Given the description of an element on the screen output the (x, y) to click on. 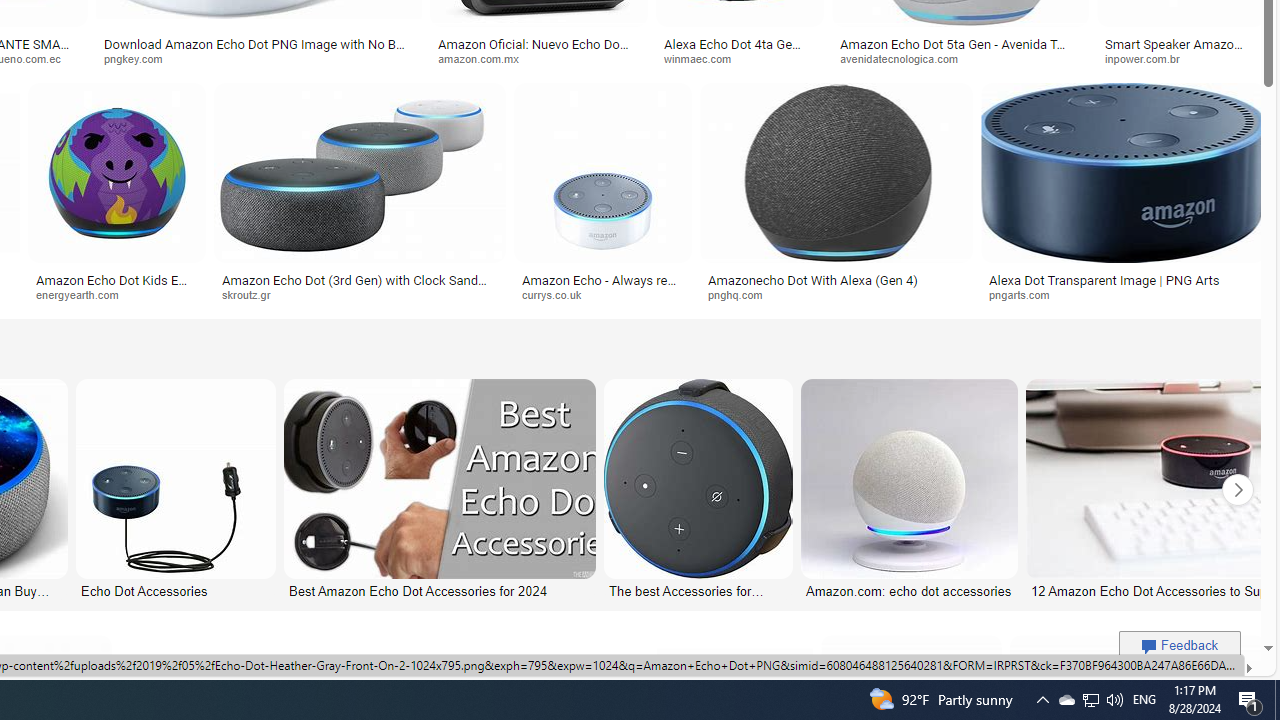
Amazonecho Dot With Alexa (Gen 4) (812, 279)
winmaec.com (705, 57)
pngkey.com (258, 58)
Amazon Echo Dot Kids Edition - 5th Generation (117, 286)
Image result for Amazon Echo Dot PNG (1122, 172)
pngarts.com (1026, 294)
amazon.com.mx (538, 58)
skroutz.gr (253, 294)
pnghq.com (836, 295)
Image result for Amazon Echo Dot PNG (1122, 172)
Amazonecho Dot With Alexa (Gen 4) (836, 279)
